Given the description of an element on the screen output the (x, y) to click on. 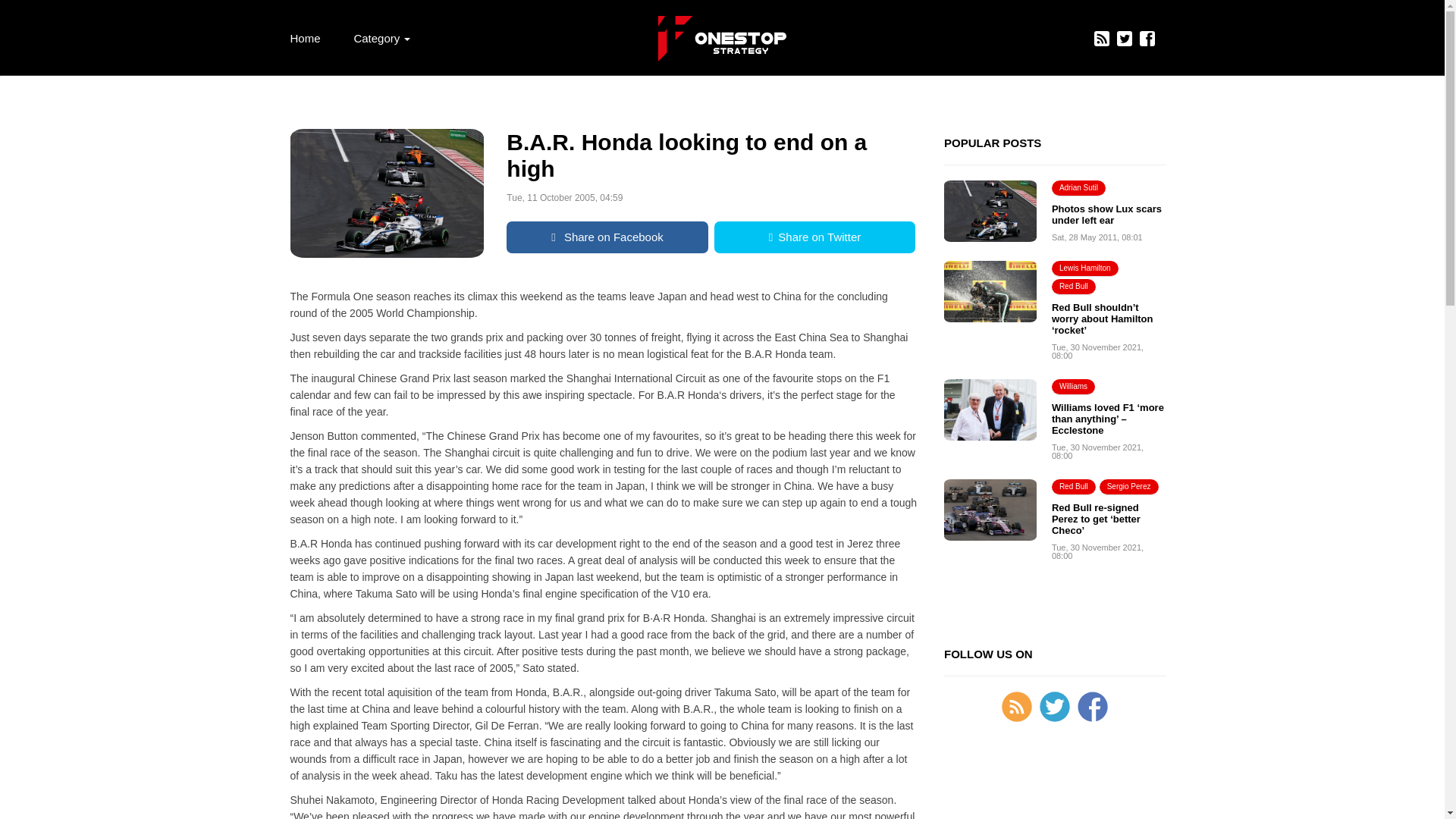
Adrian Sutil (1078, 188)
Sergio Perez (1128, 487)
Williams (1072, 386)
Lewis Hamilton (1084, 268)
Share on Twitter (814, 237)
Share on Facebook (606, 237)
Share on Twitter (814, 237)
Share on Facebook (606, 237)
Red Bull (1073, 487)
Category (381, 38)
